Given the description of an element on the screen output the (x, y) to click on. 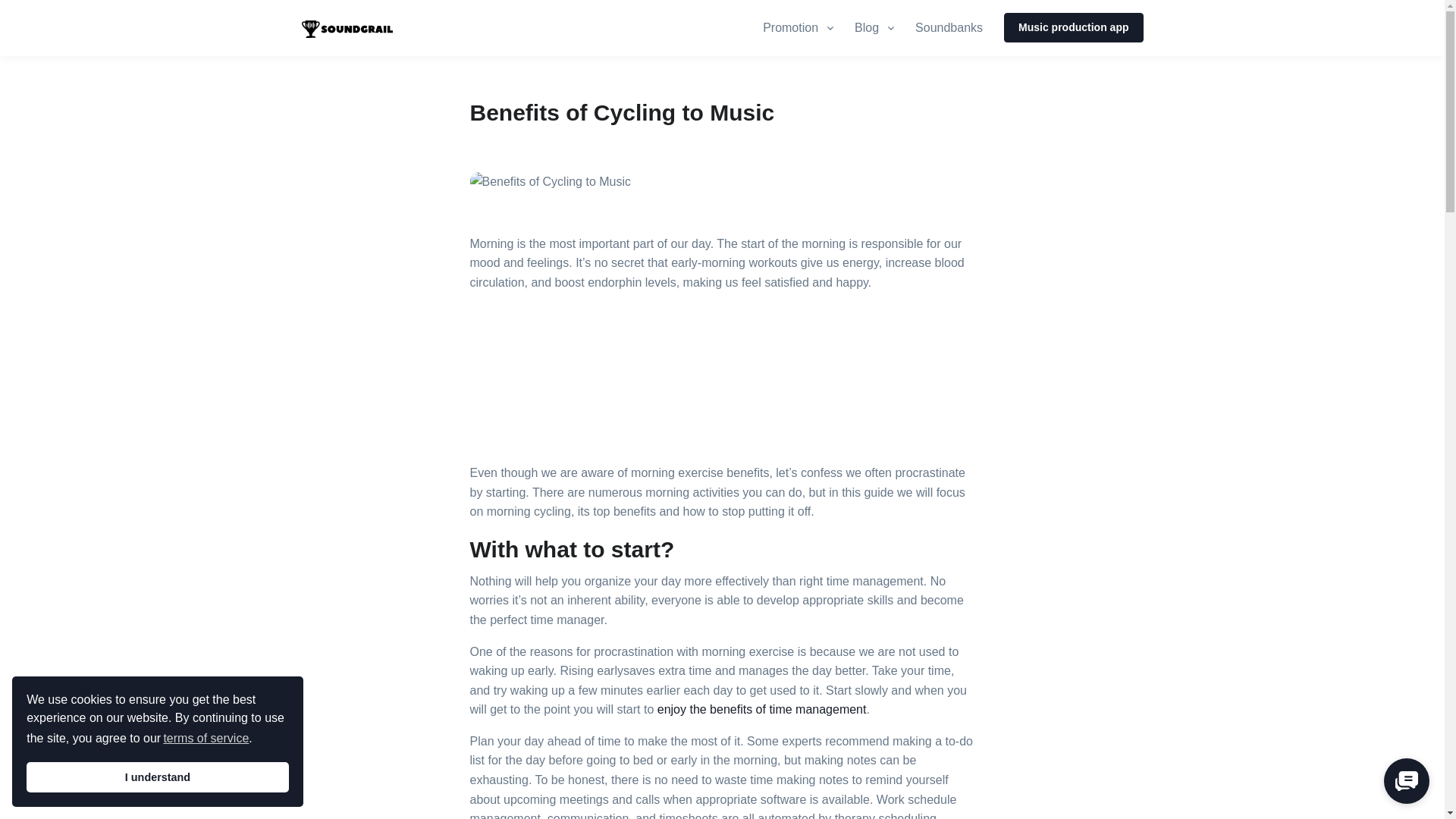
Promotion (803, 28)
Blog (875, 28)
enjoy the benefits of time management (762, 708)
I understand (157, 777)
terms of service (952, 28)
Music production app (204, 738)
Soundbanks (1073, 27)
